Given the description of an element on the screen output the (x, y) to click on. 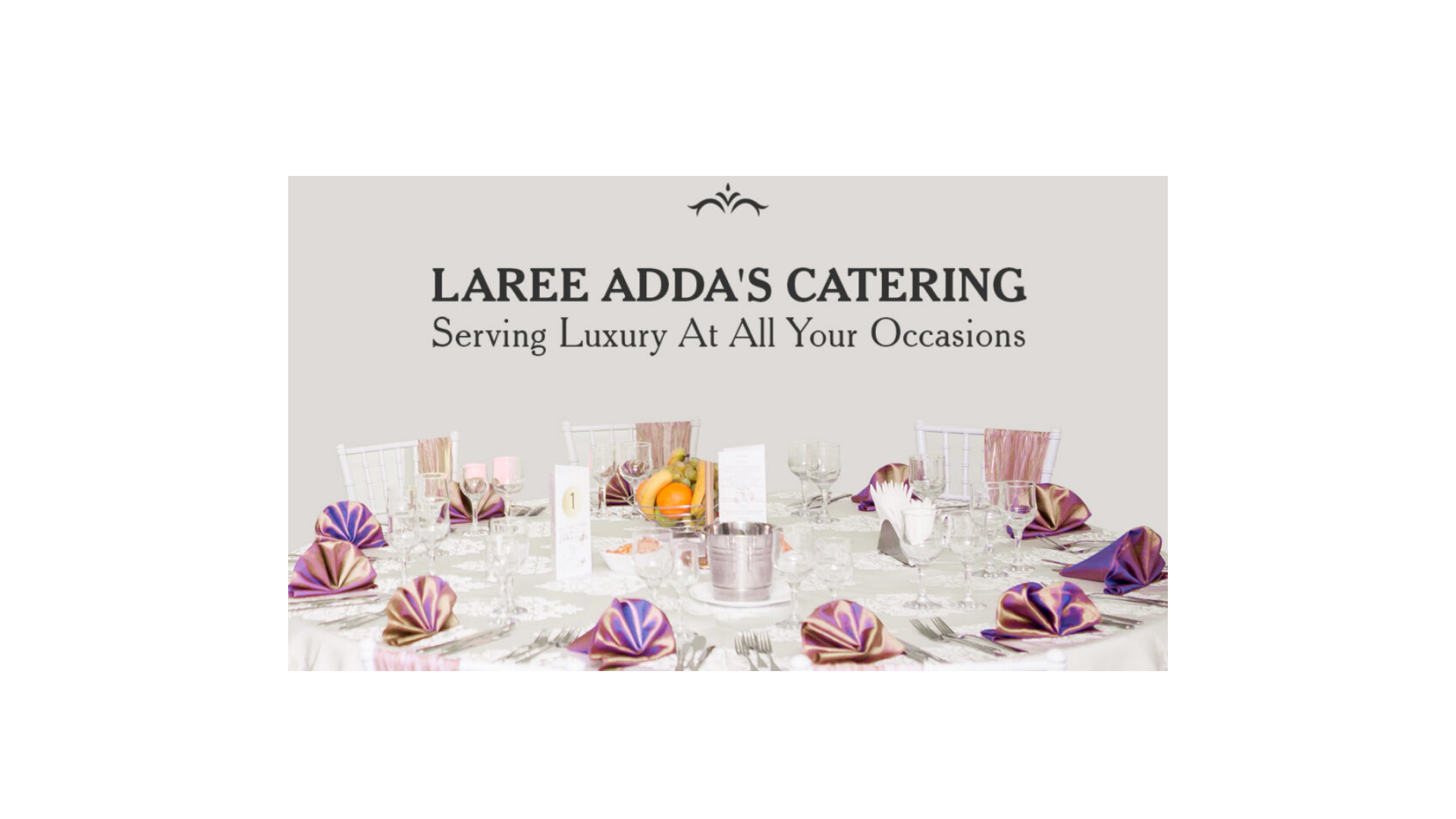
287 Grove St, Jersey City, NJ 07302 - Mon - Sun: 11a - 10p (415, 21)
Order Online (495, 85)
